Given the description of an element on the screen output the (x, y) to click on. 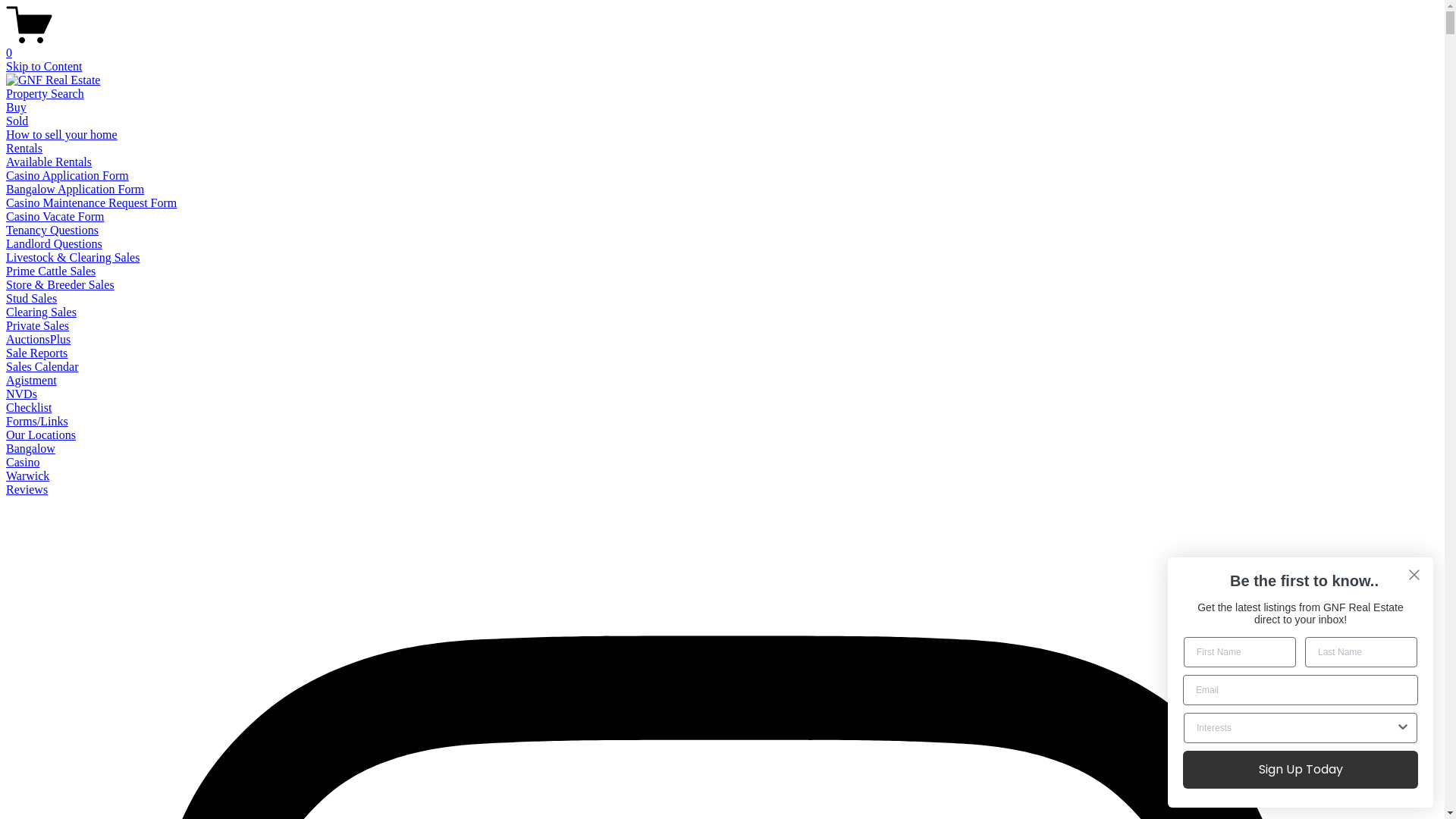
Warwick Element type: text (27, 475)
Livestock & Clearing Sales Element type: text (72, 257)
Checklist Element type: text (28, 407)
Sale Reports Element type: text (36, 352)
Casino Application Form Element type: text (67, 175)
Available Rentals Element type: text (48, 161)
Bangalow Application Form Element type: text (75, 188)
AuctionsPlus Element type: text (38, 338)
Sign Up Today Element type: text (1300, 769)
Tenancy Questions Element type: text (52, 229)
Stud Sales Element type: text (31, 297)
Close dialog 10 Element type: text (1413, 574)
Reviews Element type: text (26, 489)
Casino Maintenance Request Form Element type: text (91, 202)
Store & Breeder Sales Element type: text (60, 284)
Casino Vacate Form Element type: text (54, 216)
Property Search Element type: text (45, 93)
0 Element type: text (722, 45)
Forms/Links Element type: text (37, 420)
NVDs Element type: text (21, 393)
Sold Element type: text (17, 120)
Clearing Sales Element type: text (41, 311)
Skip to Content Element type: text (43, 65)
Sales Calendar Element type: text (42, 366)
Rentals Element type: text (24, 147)
Casino Element type: text (22, 461)
Buy Element type: text (16, 106)
Our Locations Element type: text (40, 434)
Landlord Questions Element type: text (54, 243)
Bangalow Element type: text (30, 448)
Agistment Element type: text (31, 379)
Submit Element type: text (21, 7)
Private Sales Element type: text (37, 325)
How to sell your home Element type: text (61, 134)
Prime Cattle Sales Element type: text (50, 270)
